Given the description of an element on the screen output the (x, y) to click on. 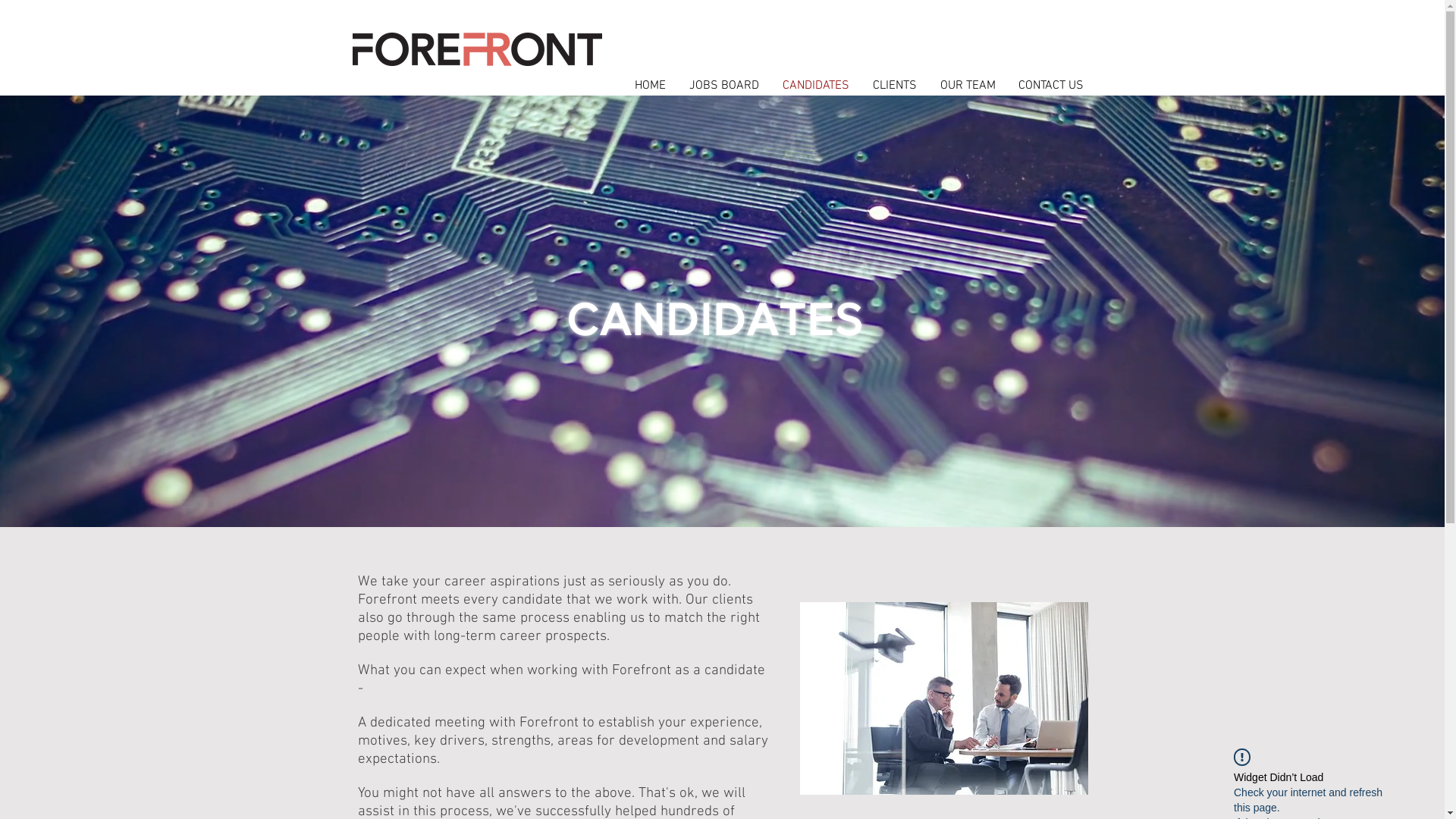
HOME Element type: text (650, 85)
CANDIDATES Element type: text (815, 85)
OUR TEAM Element type: text (967, 85)
CONTACT US Element type: text (1051, 85)
JOBS BOARD Element type: text (724, 85)
CLIENTS Element type: text (894, 85)
